Given the description of an element on the screen output the (x, y) to click on. 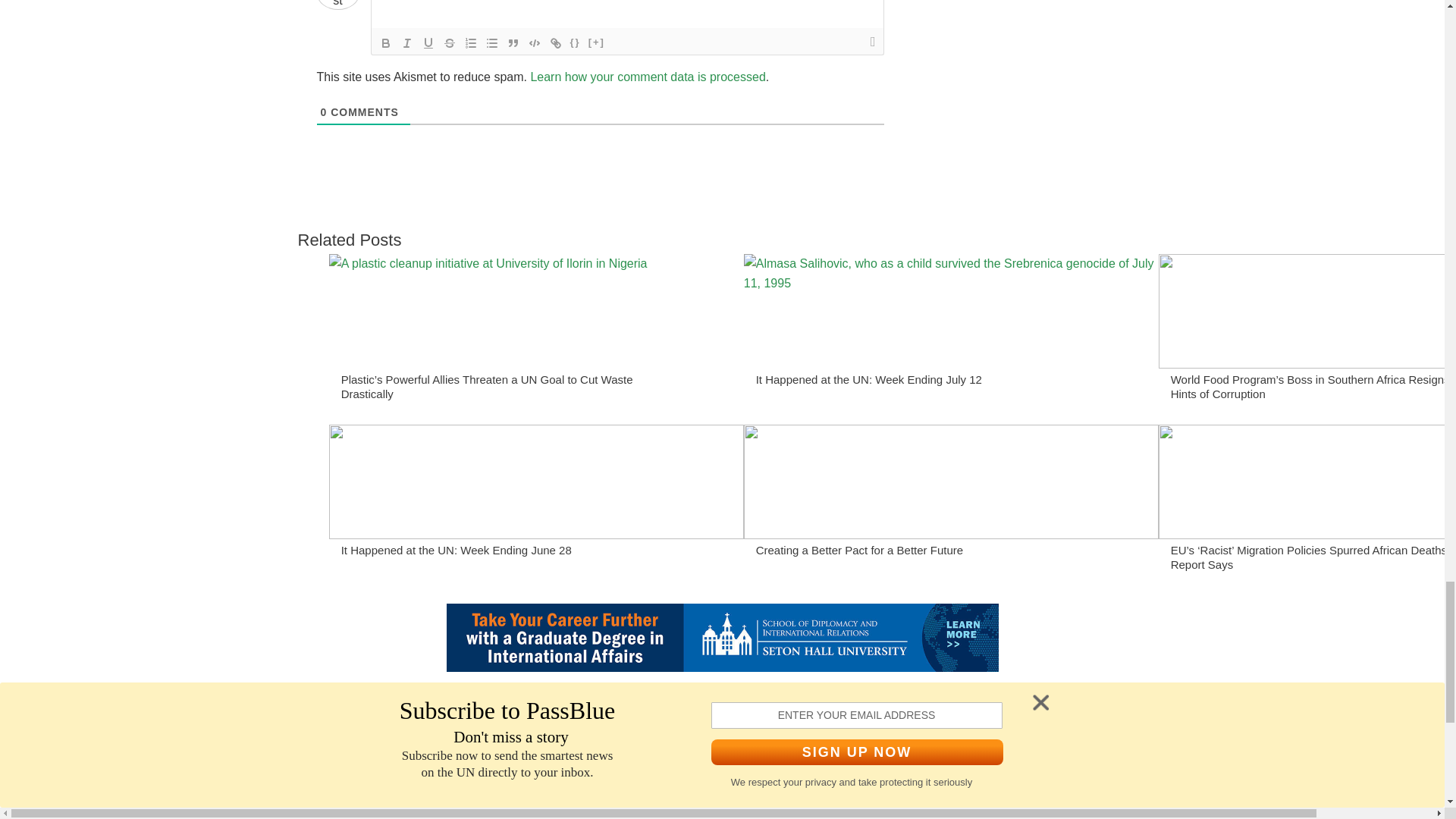
Spoiler (596, 43)
Ordered List (470, 43)
Unordered List (491, 43)
Strike (449, 43)
Code Block (533, 43)
Italic (406, 43)
Blockquote (512, 43)
Bold (385, 43)
Underline (427, 43)
Link (555, 43)
Source Code (574, 43)
